Given the description of an element on the screen output the (x, y) to click on. 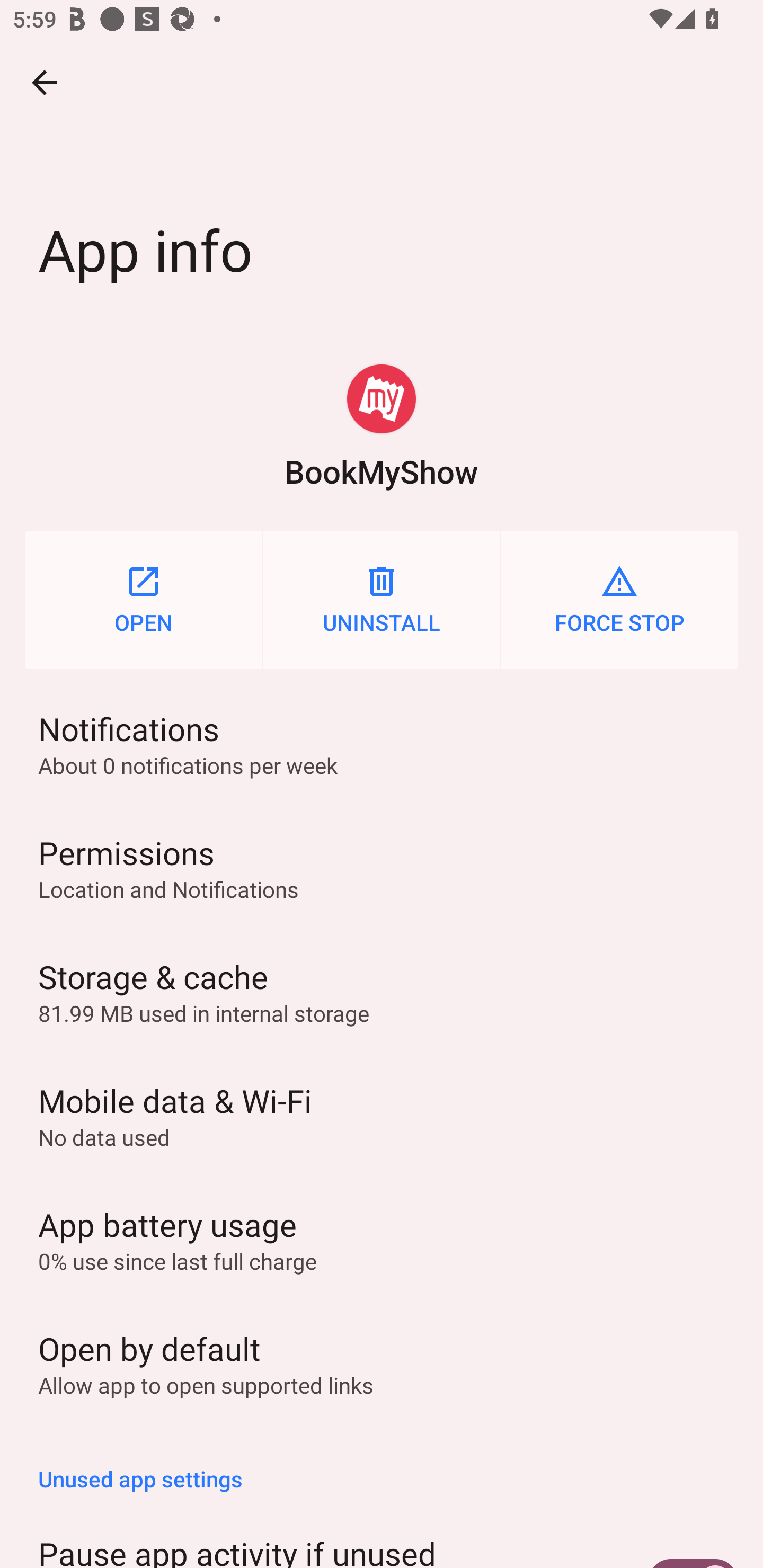
Navigate up (44, 82)
OPEN (143, 600)
UNINSTALL (381, 600)
FORCE STOP (619, 600)
Notifications About 0 notifications per week (381, 743)
Permissions Location and Notifications (381, 867)
Storage & cache 81.99 MB used in internal storage (381, 991)
Mobile data & Wi‑Fi No data used (381, 1115)
App battery usage 0% use since last full charge (381, 1239)
Open by default Allow app to open supported links (381, 1363)
Pause app activity if unused (381, 1537)
